Given the description of an element on the screen output the (x, y) to click on. 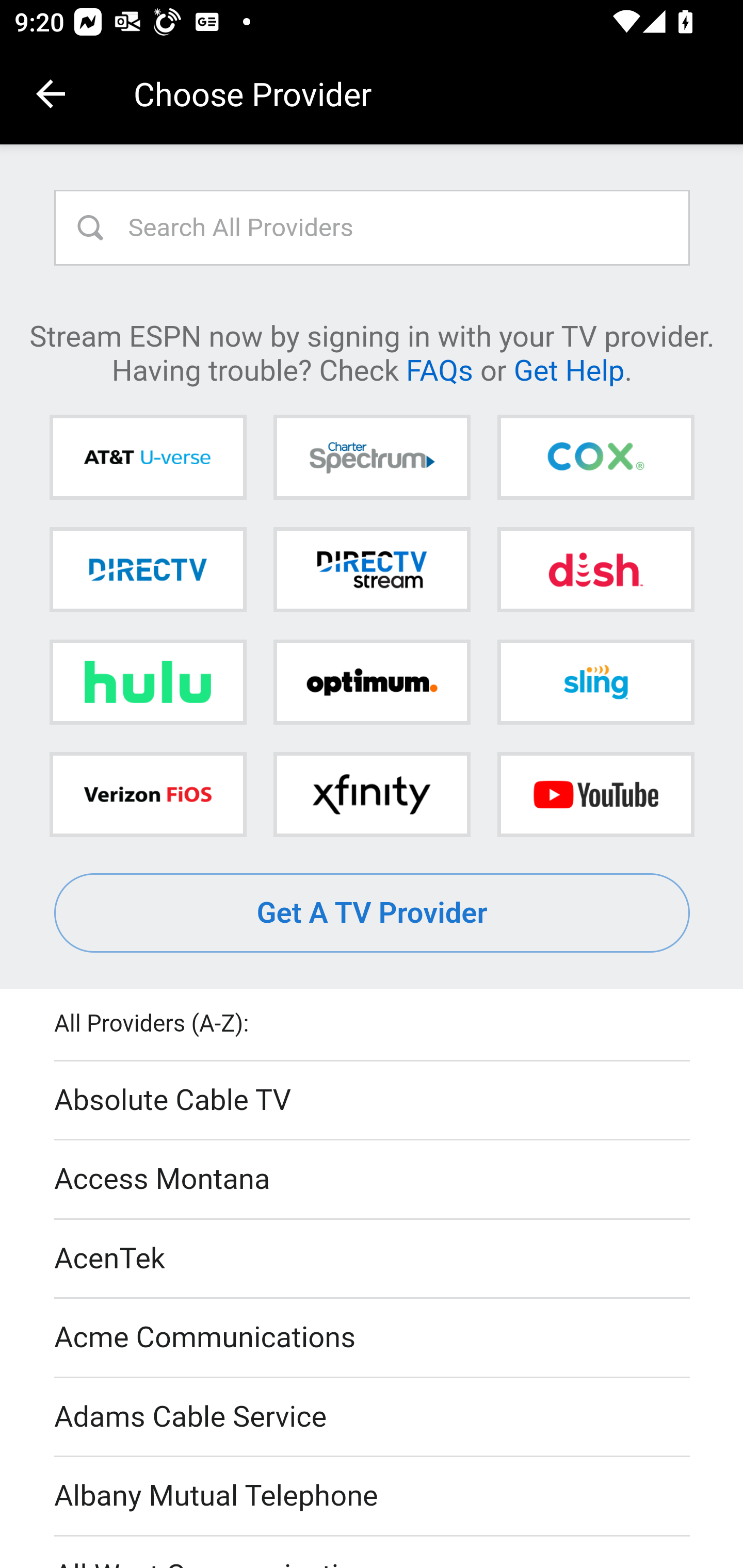
Navigate up (50, 93)
FAQs (438, 369)
Get Help (569, 369)
AT&T U-verse (147, 457)
Charter Spectrum (371, 457)
Cox (595, 457)
DIRECTV (147, 568)
DIRECTV STREAM (371, 568)
DISH (595, 568)
Hulu (147, 681)
Optimum (371, 681)
Sling TV (595, 681)
Verizon FiOS (147, 793)
Xfinity (371, 793)
YouTube TV (595, 793)
Get A TV Provider (372, 912)
Absolute Cable TV (372, 1100)
Access Montana (372, 1178)
AcenTek (372, 1258)
Acme Communications (372, 1338)
Adams Cable Service (372, 1417)
Albany Mutual Telephone (372, 1497)
